Given the description of an element on the screen output the (x, y) to click on. 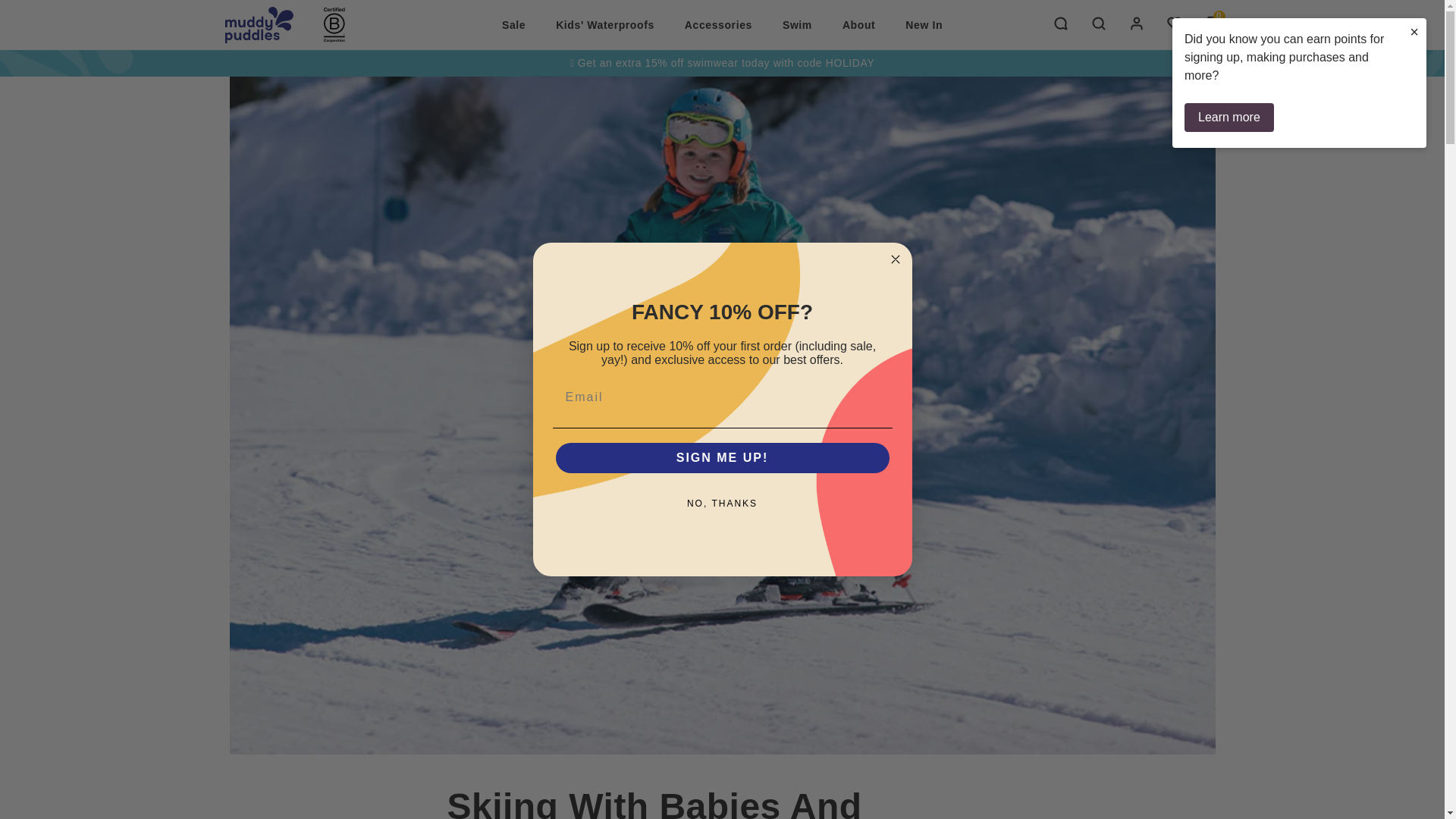
About (858, 24)
Kids' Waterproofs (605, 24)
Swim (796, 24)
Skip to content (45, 17)
Accessories (718, 24)
